Given the description of an element on the screen output the (x, y) to click on. 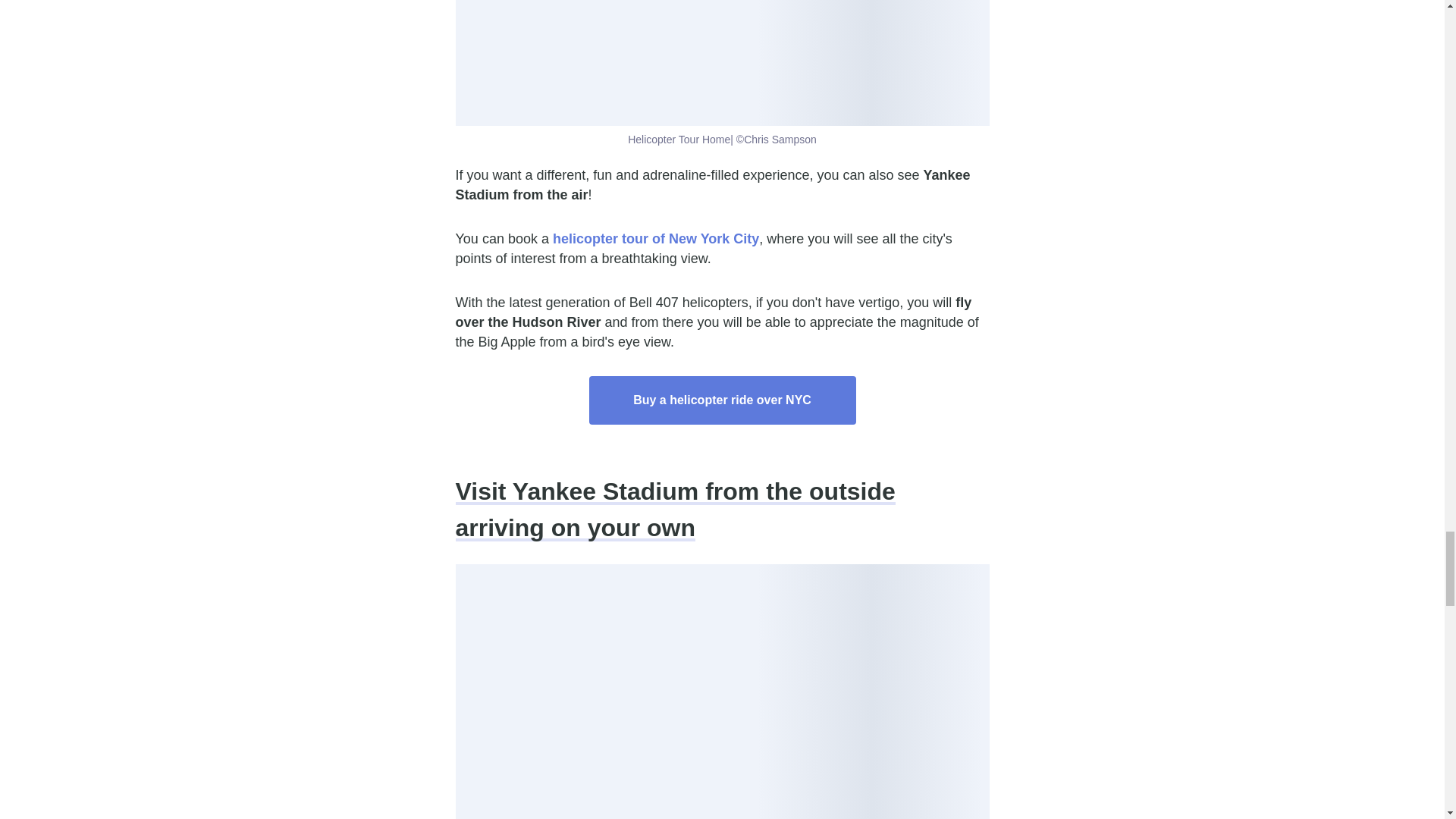
helicopter tour of New York City (655, 238)
Buy a helicopter ride over NYC (722, 400)
